Given the description of an element on the screen output the (x, y) to click on. 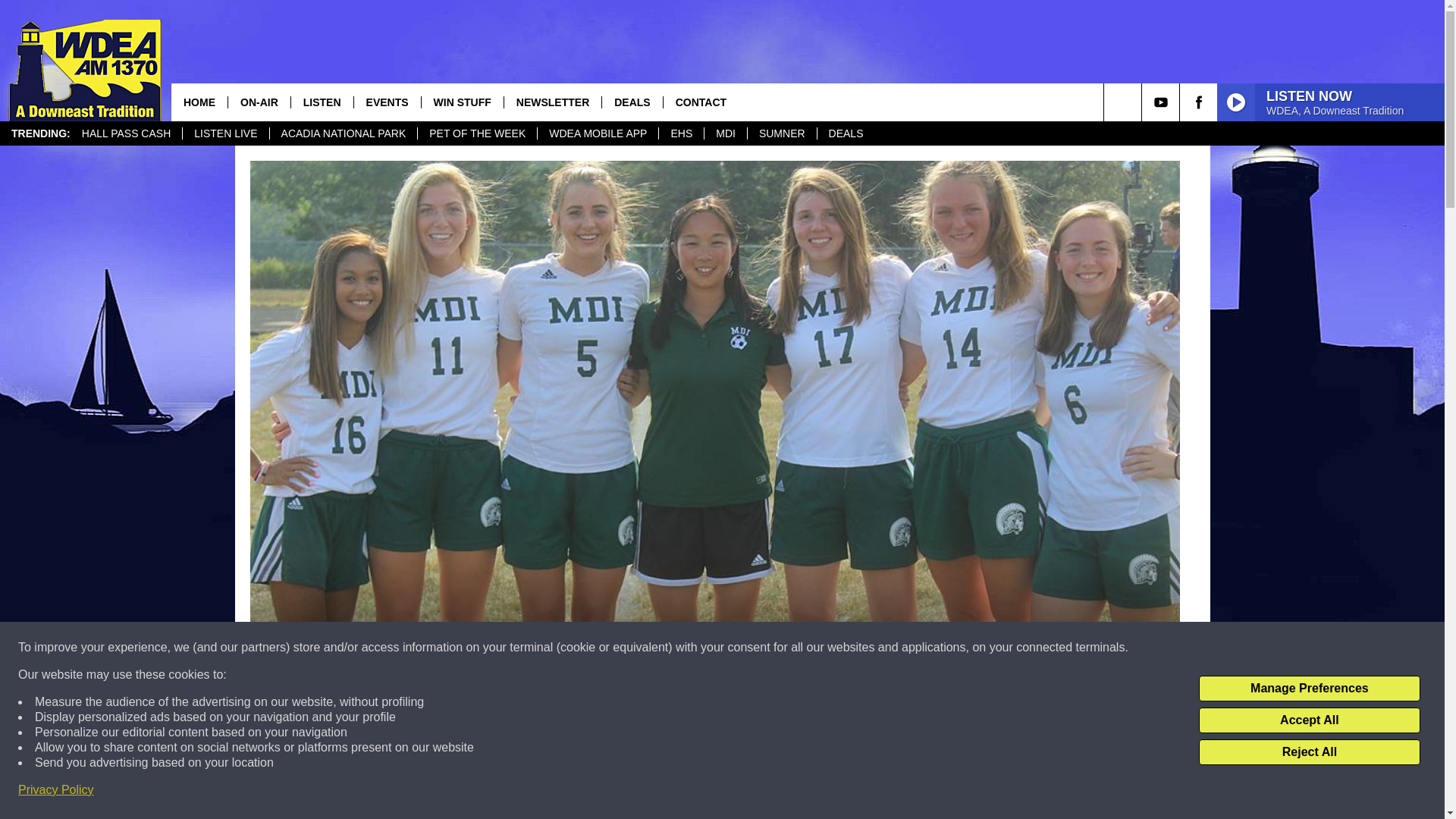
CONTACT (700, 102)
Manage Preferences (1309, 688)
HALL PASS CASH (126, 133)
EHS (680, 133)
Accept All (1309, 720)
MDI (724, 133)
LISTEN LIVE (224, 133)
LISTEN (321, 102)
DEALS (845, 133)
Share on Facebook (517, 791)
HOME (199, 102)
Privacy Policy (55, 789)
PET OF THE WEEK (476, 133)
Reject All (1309, 751)
EVENTS (386, 102)
